Given the description of an element on the screen output the (x, y) to click on. 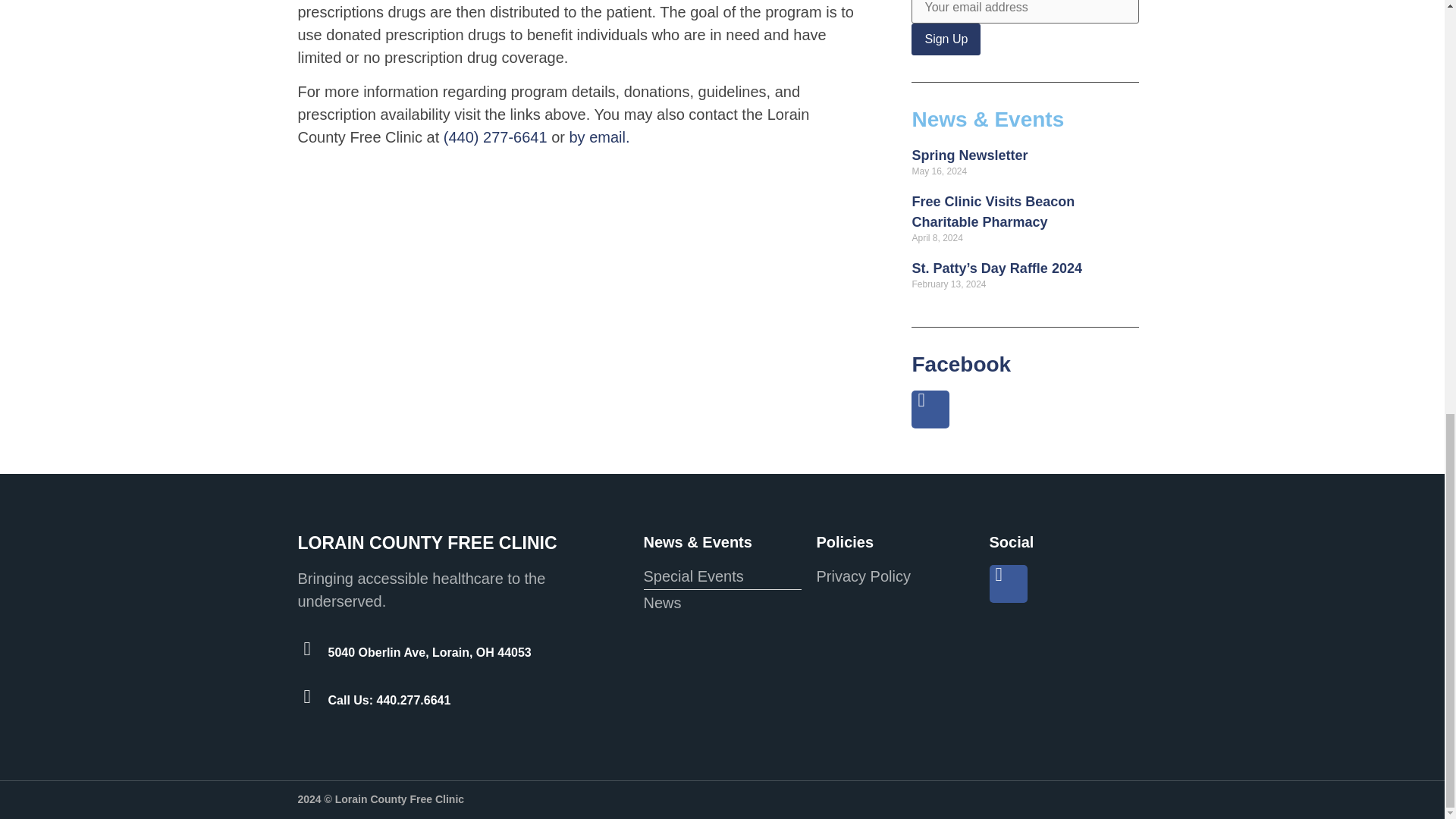
Sign Up (945, 39)
